Given the description of an element on the screen output the (x, y) to click on. 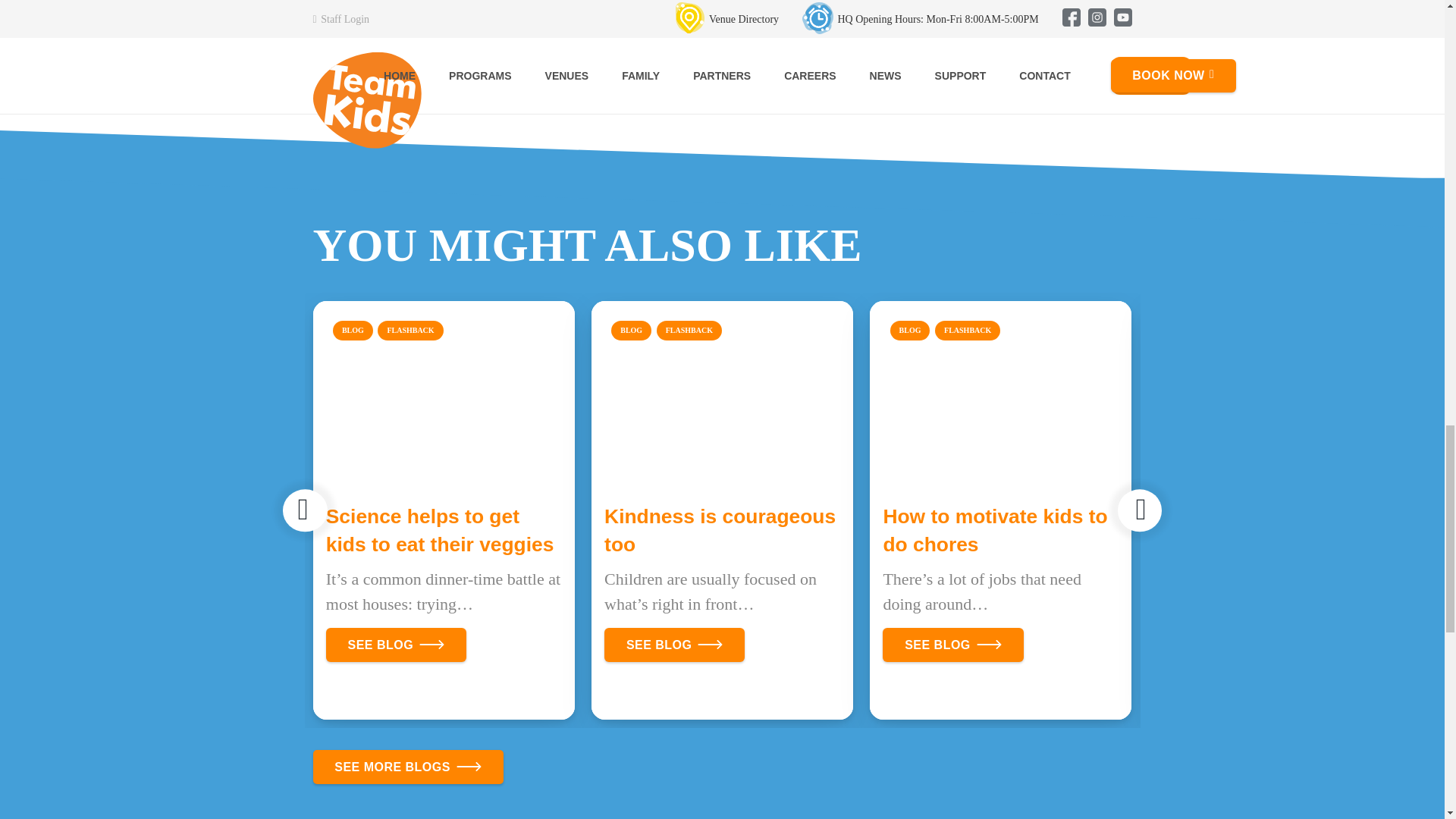
SEE BLOG (395, 644)
BLOG (352, 330)
BLOG (630, 330)
Science helps to get kids to eat their veggies (440, 530)
FLASHBACK (409, 330)
